Given the description of an element on the screen output the (x, y) to click on. 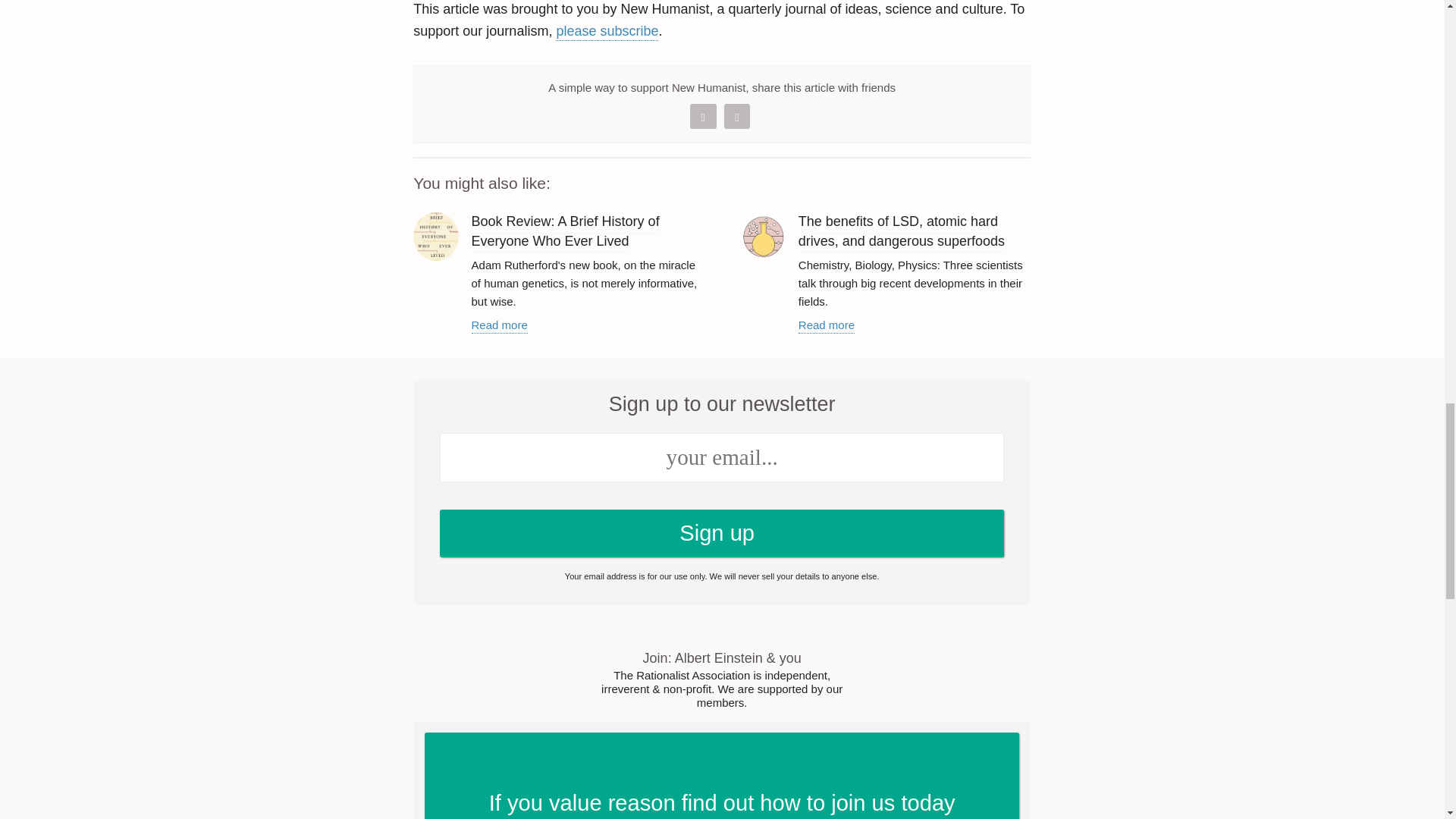
Sign up (721, 533)
Science (763, 234)
If you value reason find out how to join us today (722, 775)
rutherford (435, 236)
please subscribe (607, 31)
Share this blog post with your followers on Twitter (703, 115)
Book Review: A Brief History of Everyone Who Ever Lived (565, 232)
